Given the description of an element on the screen output the (x, y) to click on. 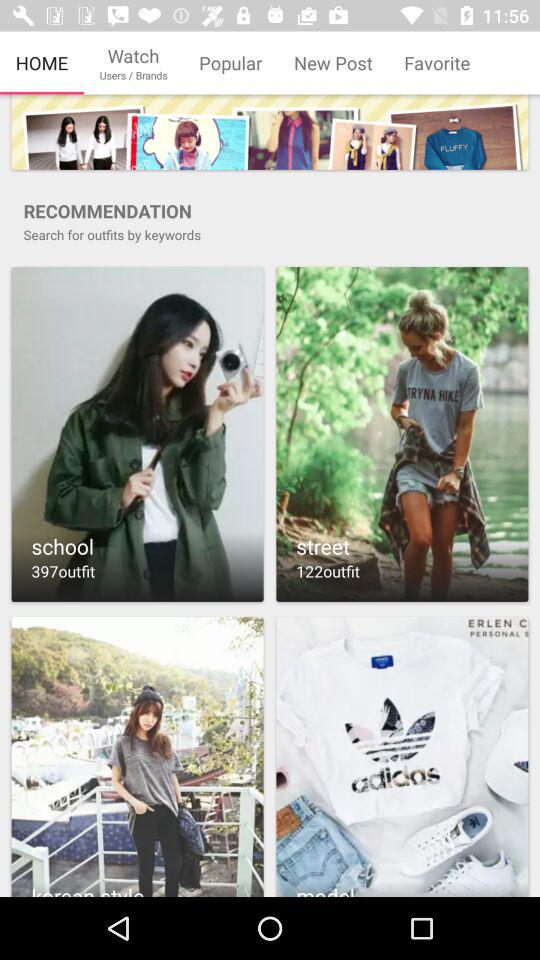
select the first image on the web page (269, 132)
select the image on the bottom right corner of the  web page (402, 753)
select the 2nd image on the top right corner of the web page (401, 433)
